Given the description of an element on the screen output the (x, y) to click on. 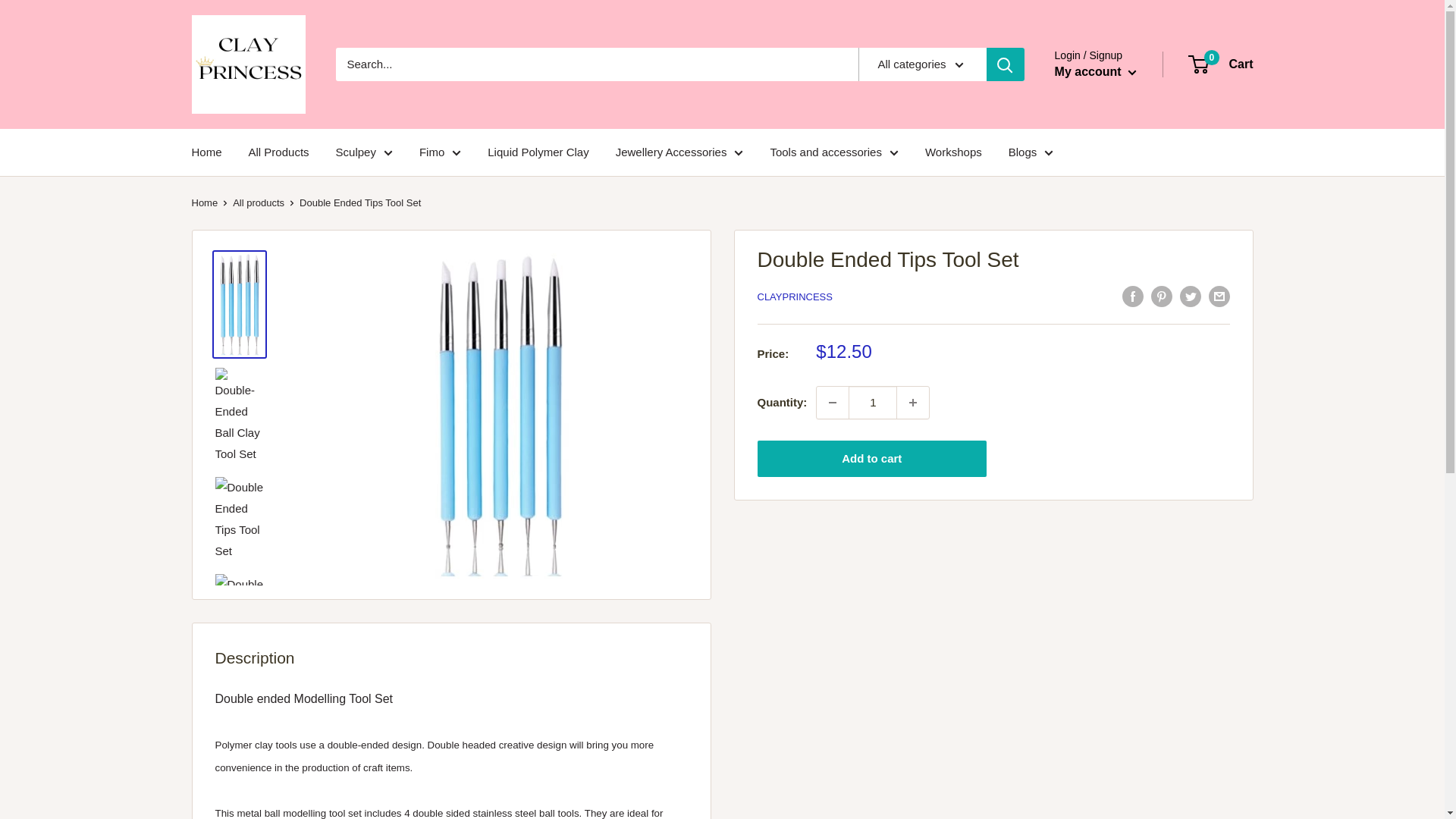
Increase quantity by 1 (912, 402)
Decrease quantity by 1 (832, 402)
1 (872, 402)
